Given the description of an element on the screen output the (x, y) to click on. 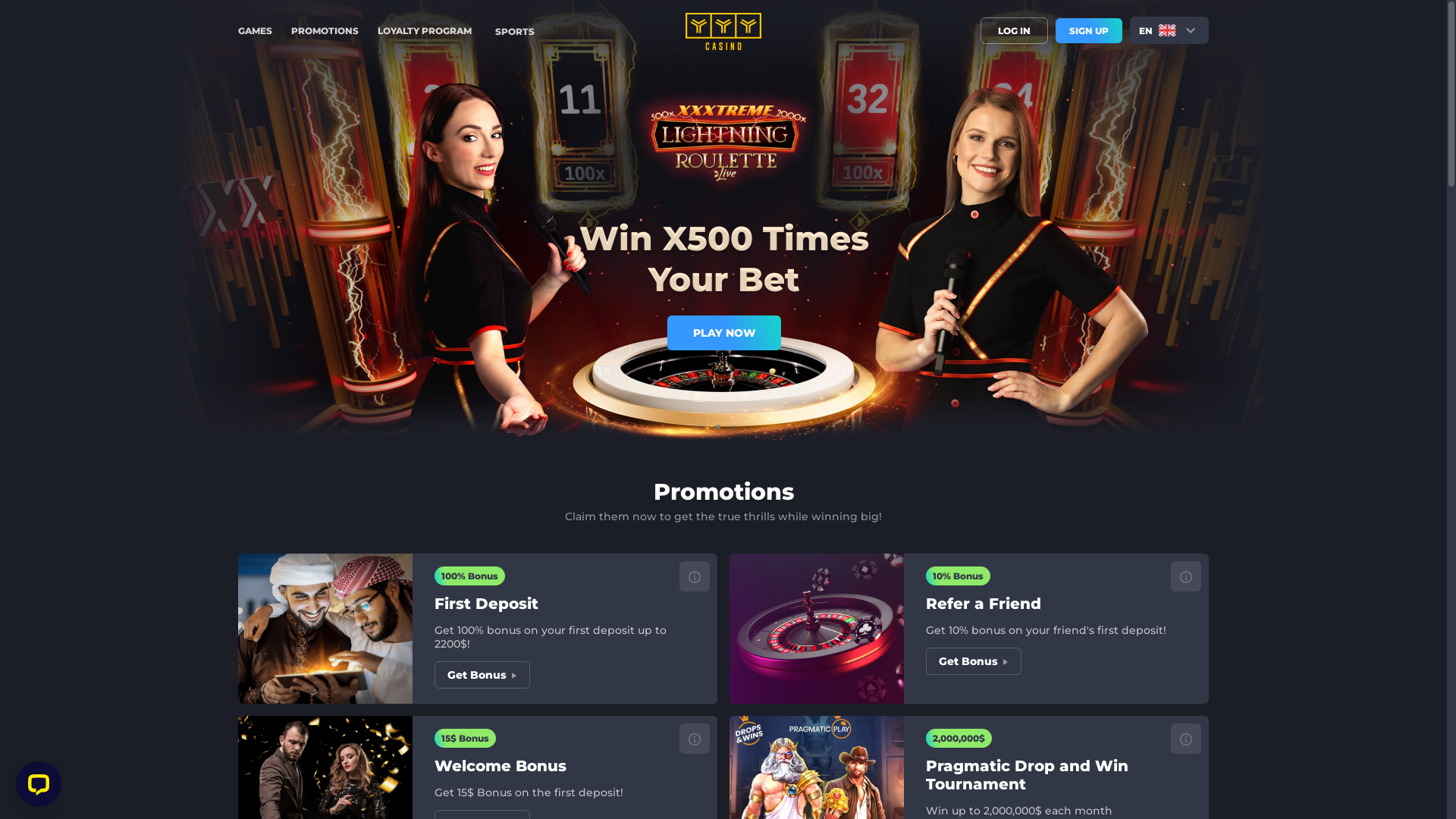
LOG IN Element type: text (1014, 29)
PLAY NOW Element type: text (723, 328)
Get Bonus Element type: text (973, 660)
Get Bonus Element type: text (482, 674)
SPORTS Element type: text (514, 30)
1 Element type: text (707, 431)
SIGN UP Element type: text (1088, 30)
2 Element type: text (723, 431)
3 Element type: text (738, 431)
LOYALTY PROGRAM Element type: text (424, 29)
PROMOTIONS Element type: text (324, 29)
GAMES Element type: text (255, 29)
